Given the description of an element on the screen output the (x, y) to click on. 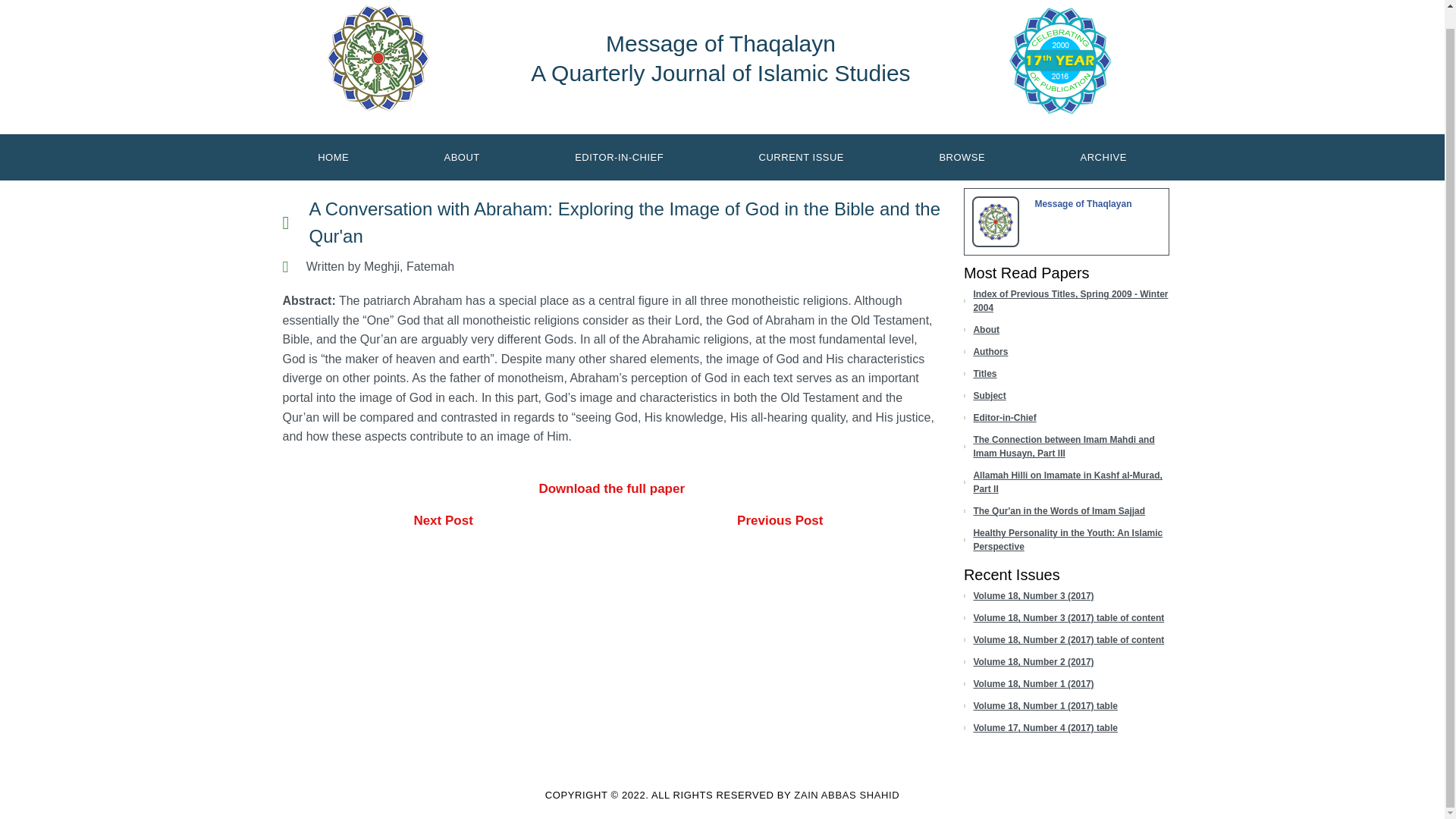
CURRENT ISSUE (801, 156)
ABOUT (461, 156)
BROWSE (961, 156)
HOME (333, 156)
EDITOR-IN-CHIEF (619, 156)
3502af43c5ee99cb3b9889fa6641540762fcce75.00001251 (996, 221)
ARCHIVE (1103, 156)
